Given the description of an element on the screen output the (x, y) to click on. 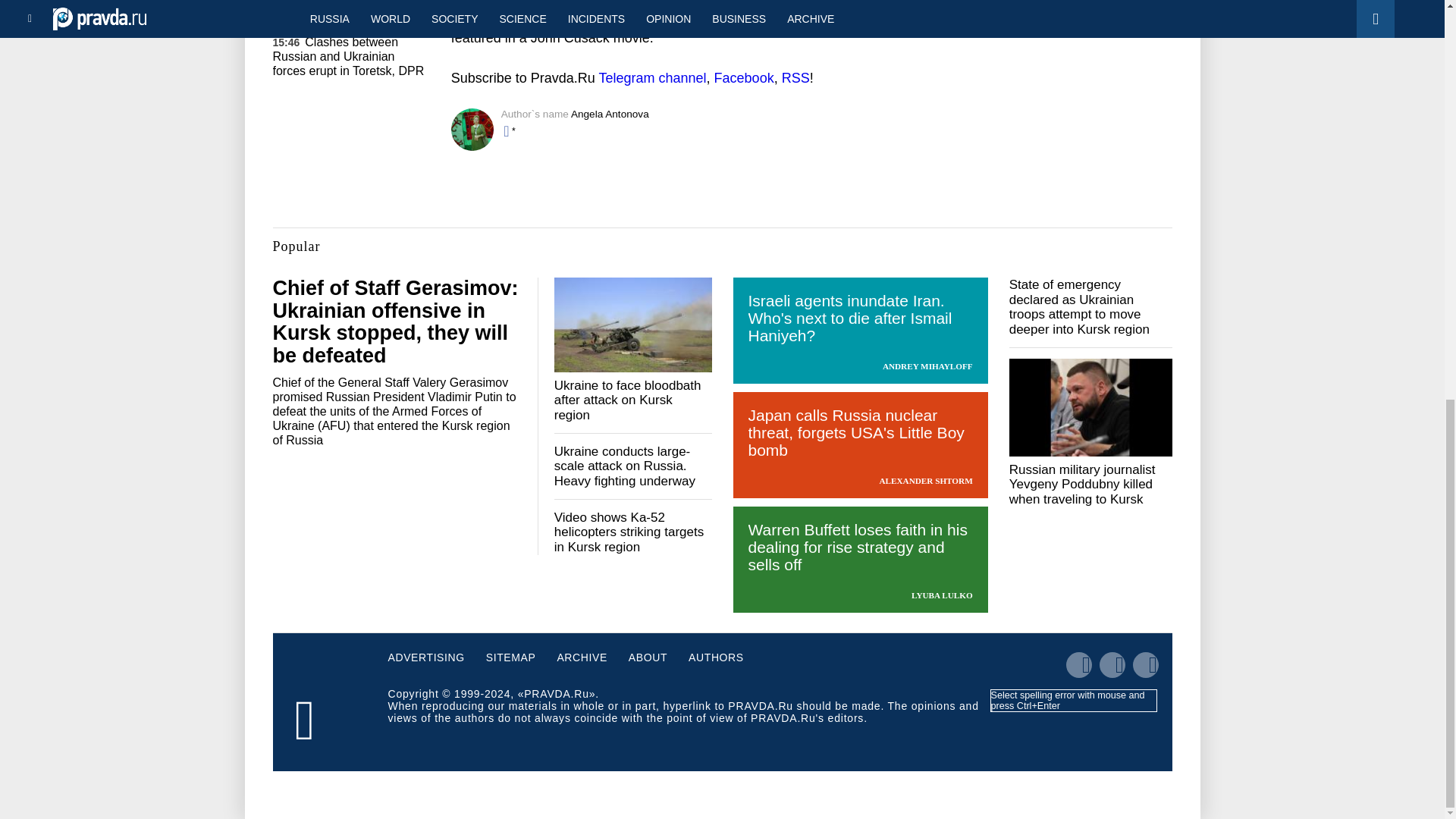
RSS (795, 77)
Telegram channel (652, 77)
Ukrainian general: We are being betrayed, to put it mildly (349, 2)
Facebook (744, 77)
Back to top (1418, 118)
Angela Antonova (609, 113)
